Given the description of an element on the screen output the (x, y) to click on. 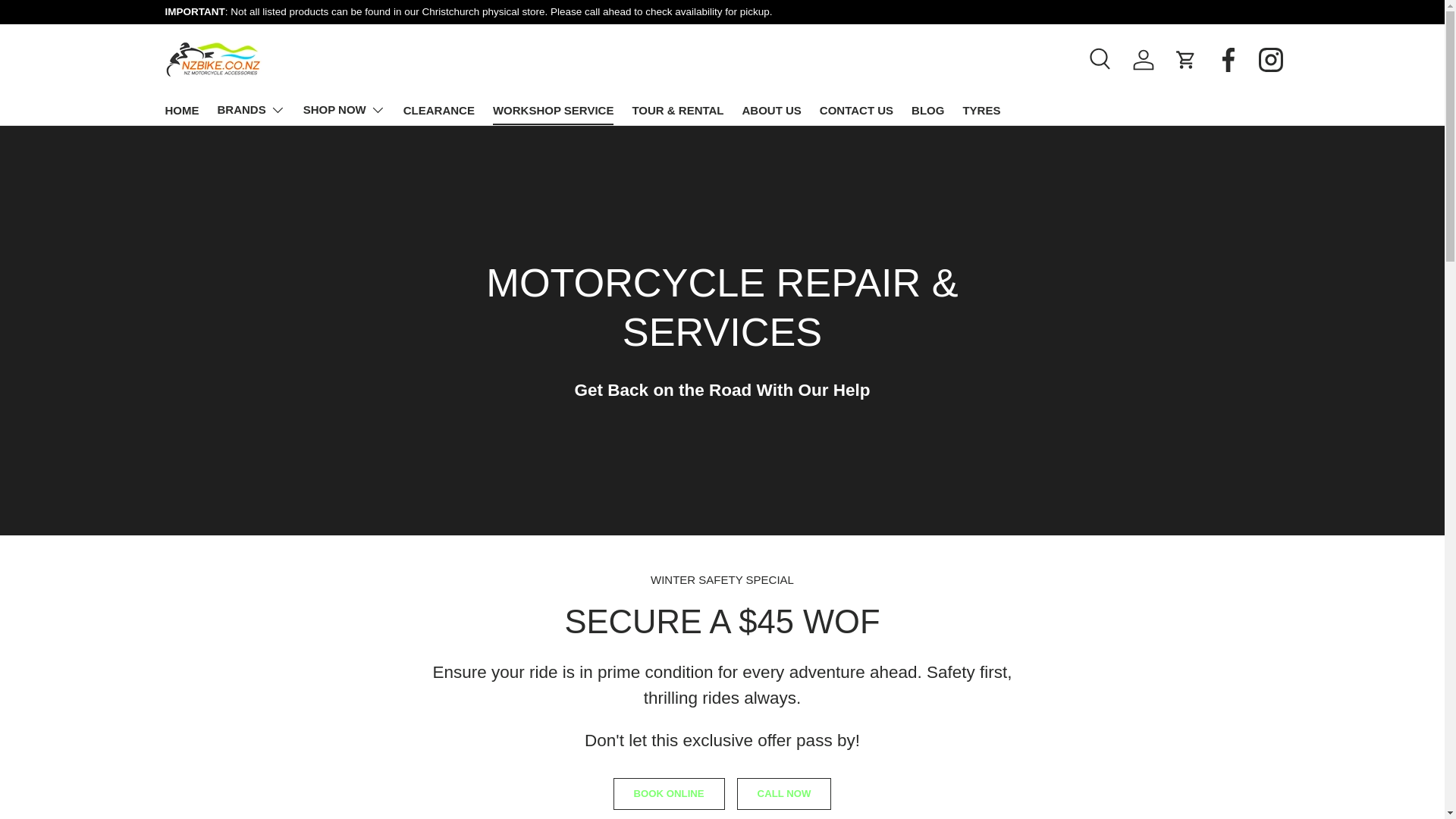
HOME (182, 110)
Search (1101, 59)
Cart (1185, 59)
Log in (1143, 59)
SKIP TO CONTENT (68, 21)
BRANDS (249, 110)
